Given the description of an element on the screen output the (x, y) to click on. 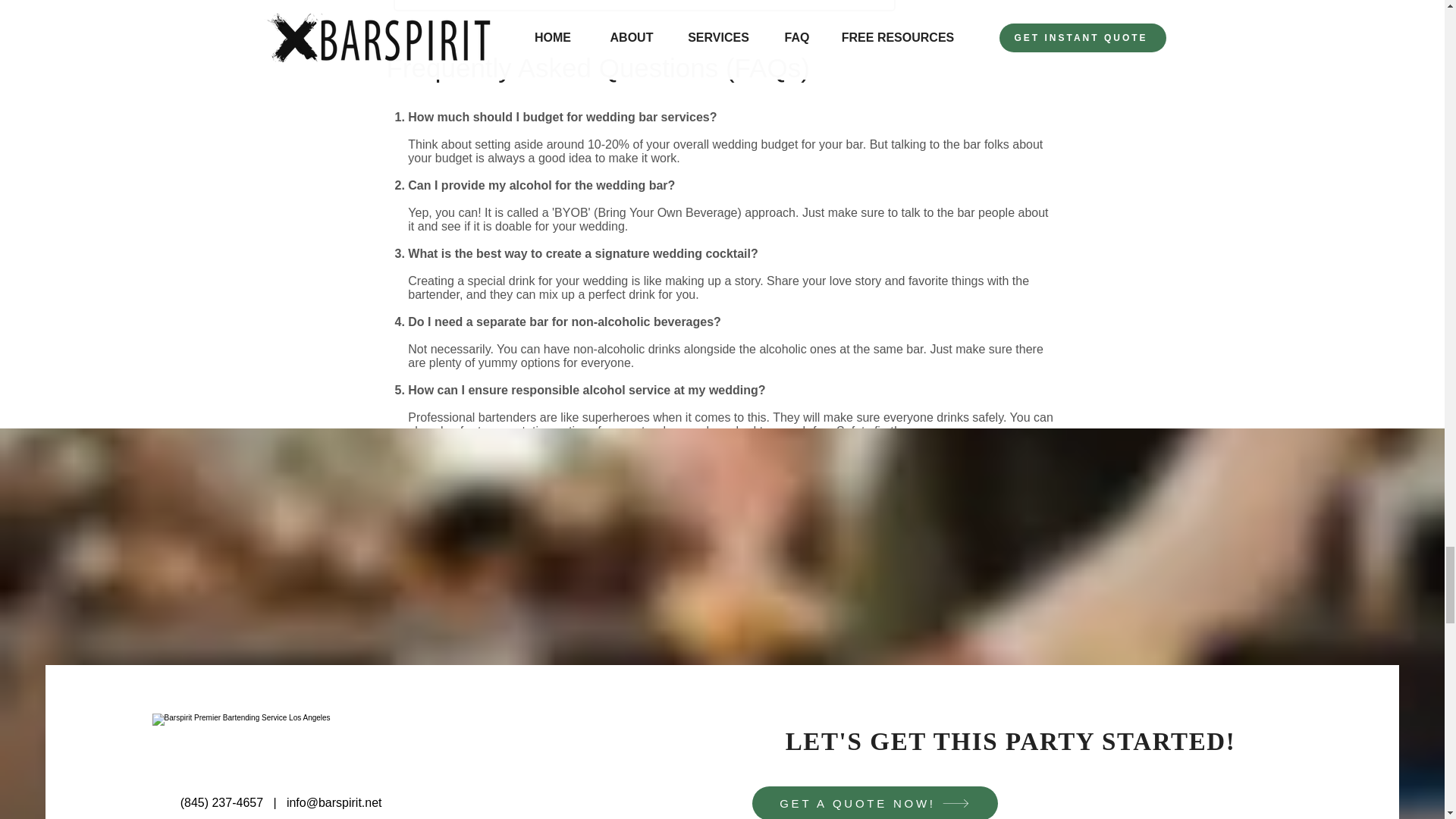
BOOK YOUR EVENT TODAY (644, 5)
GET A QUOTE NOW! (874, 802)
